Given the description of an element on the screen output the (x, y) to click on. 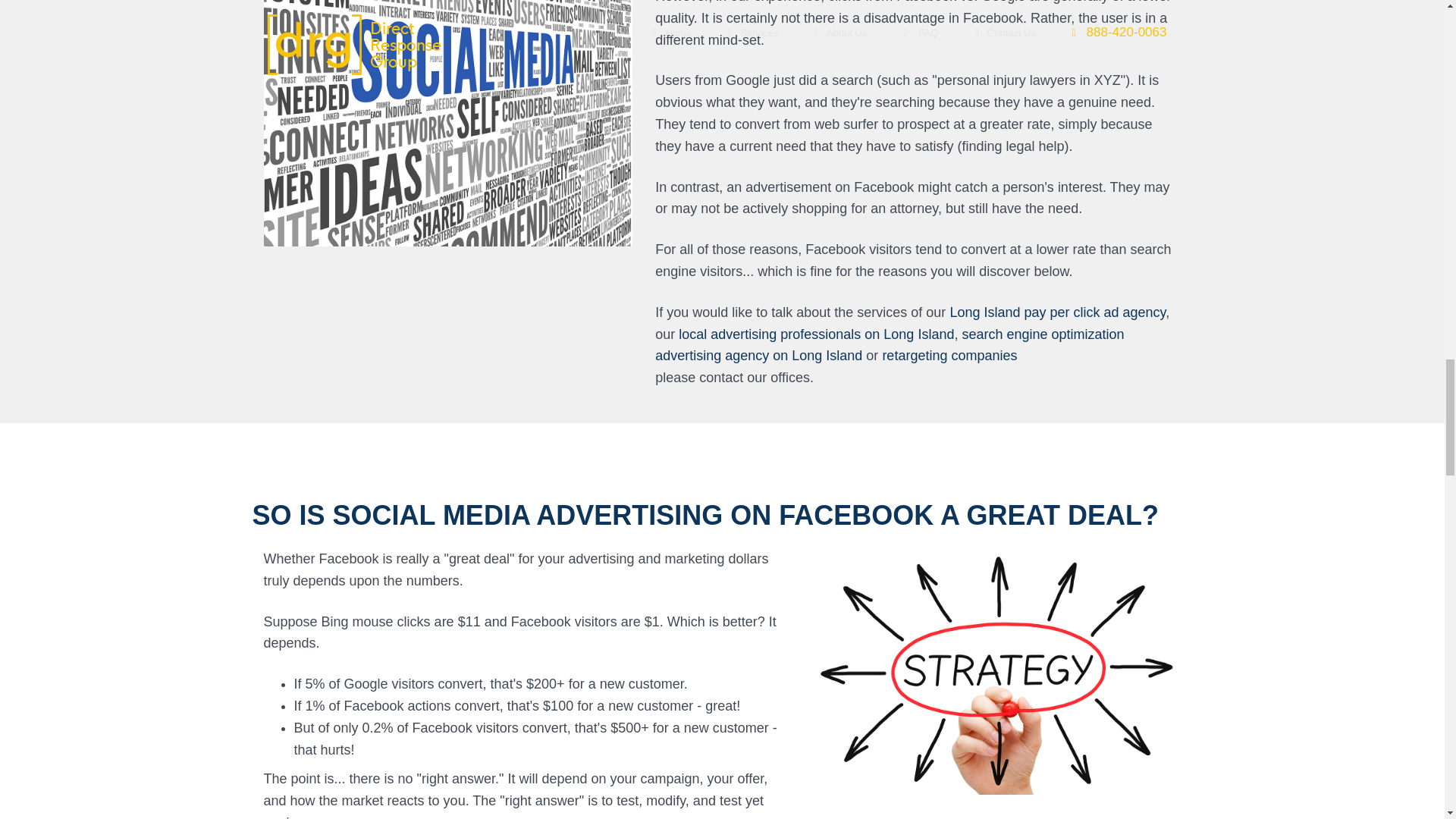
social media concepts and facebook advertising (448, 123)
search engine optimization advertising agency on Long Island (889, 344)
facebook marketing strategy (996, 670)
local advertising professionals on Long Island (815, 333)
Long Island pay per click ad agency (1057, 312)
